Given the description of an element on the screen output the (x, y) to click on. 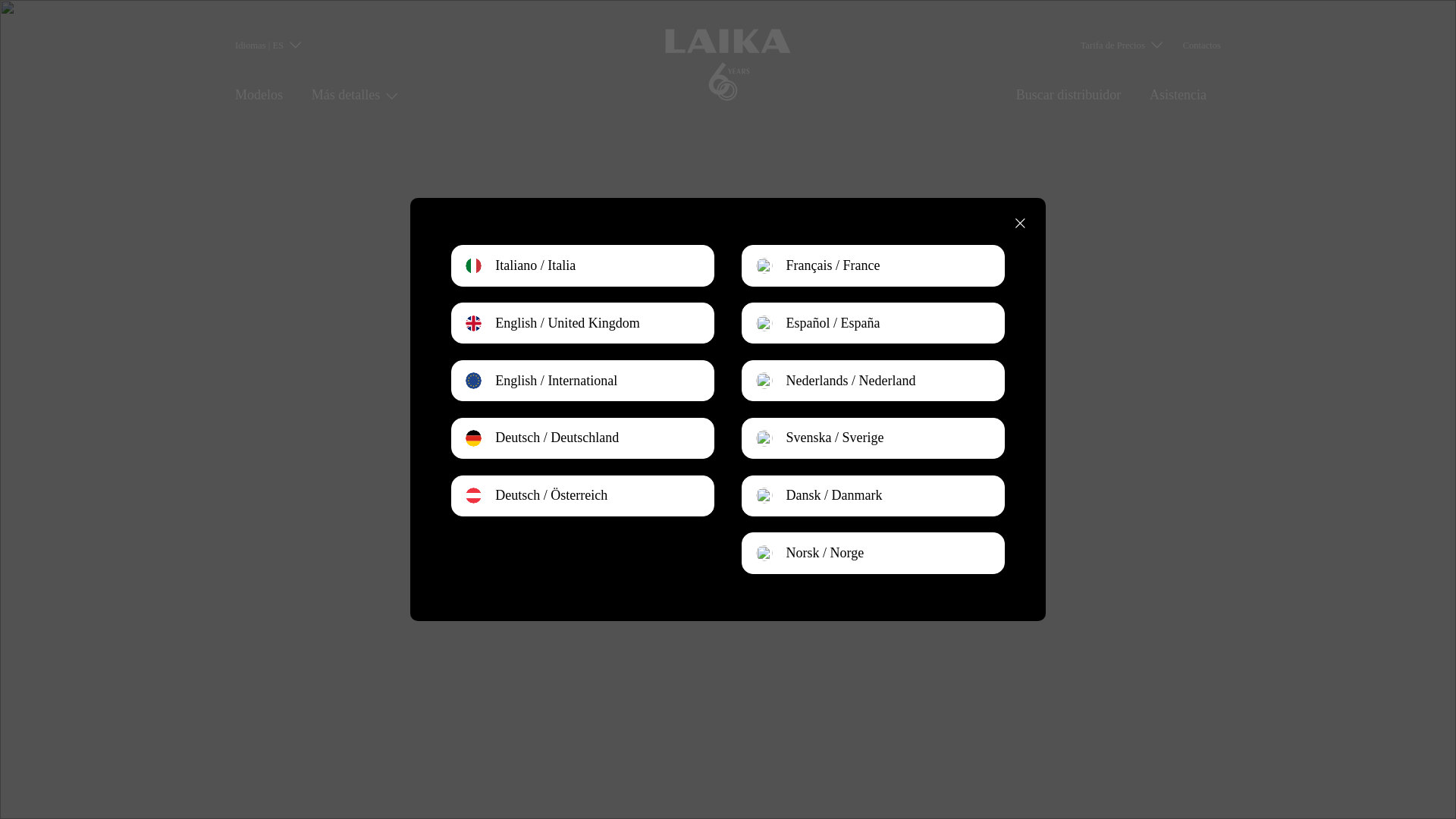
Buscar distribuidor (1068, 94)
Contactos (1201, 45)
Modelos (258, 94)
Asistencia (1178, 94)
